Given the description of an element on the screen output the (x, y) to click on. 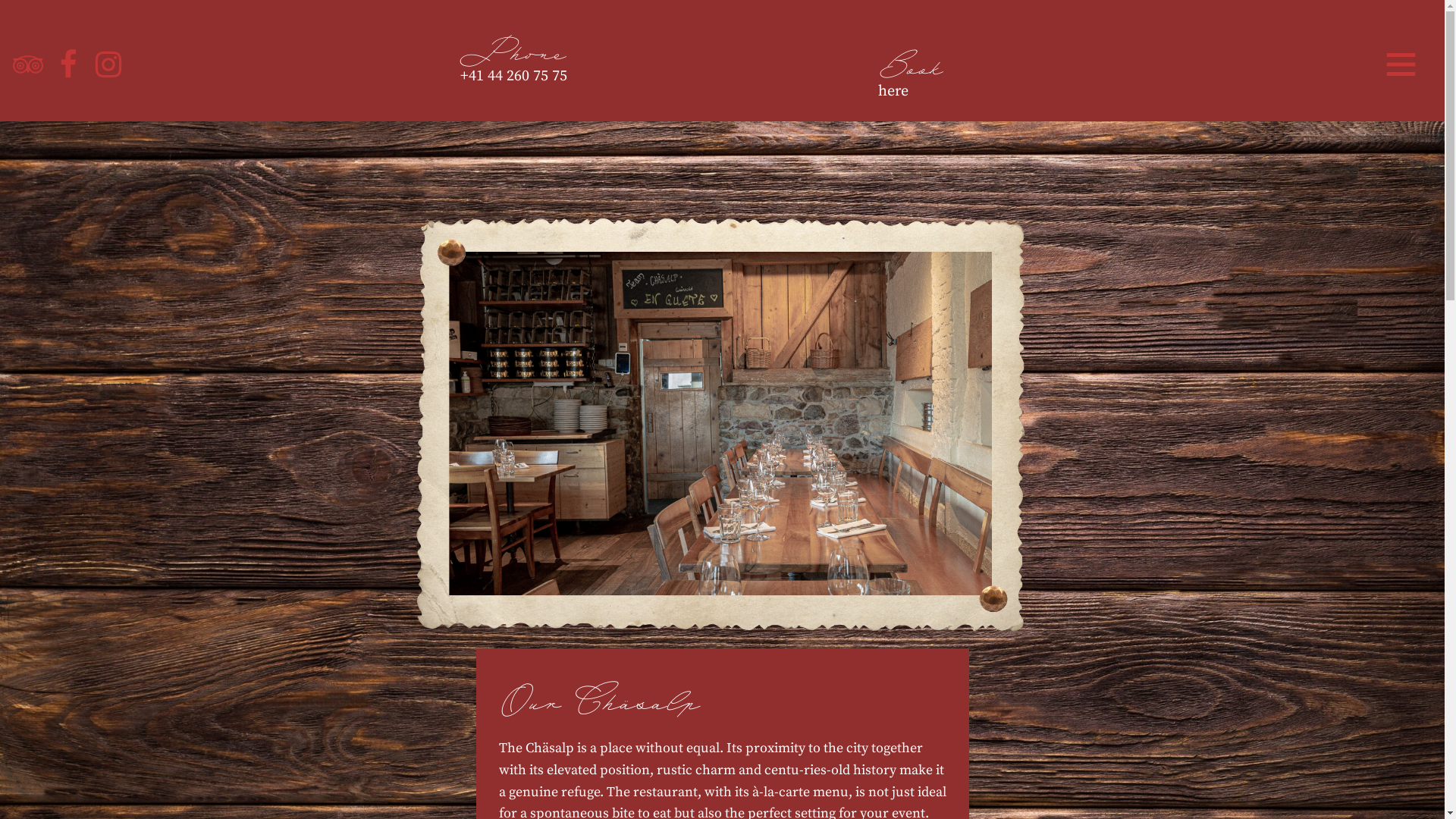
Navigation Menu Element type: text (1408, 64)
Book Element type: text (910, 68)
here Element type: text (893, 90)
Skip to content Element type: text (11, 31)
Navigation Menu Element type: text (1411, 18)
Instagram Element type: hover (108, 64)
TripAdvisor Element type: hover (27, 64)
Facebook Element type: hover (67, 64)
